Given the description of an element on the screen output the (x, y) to click on. 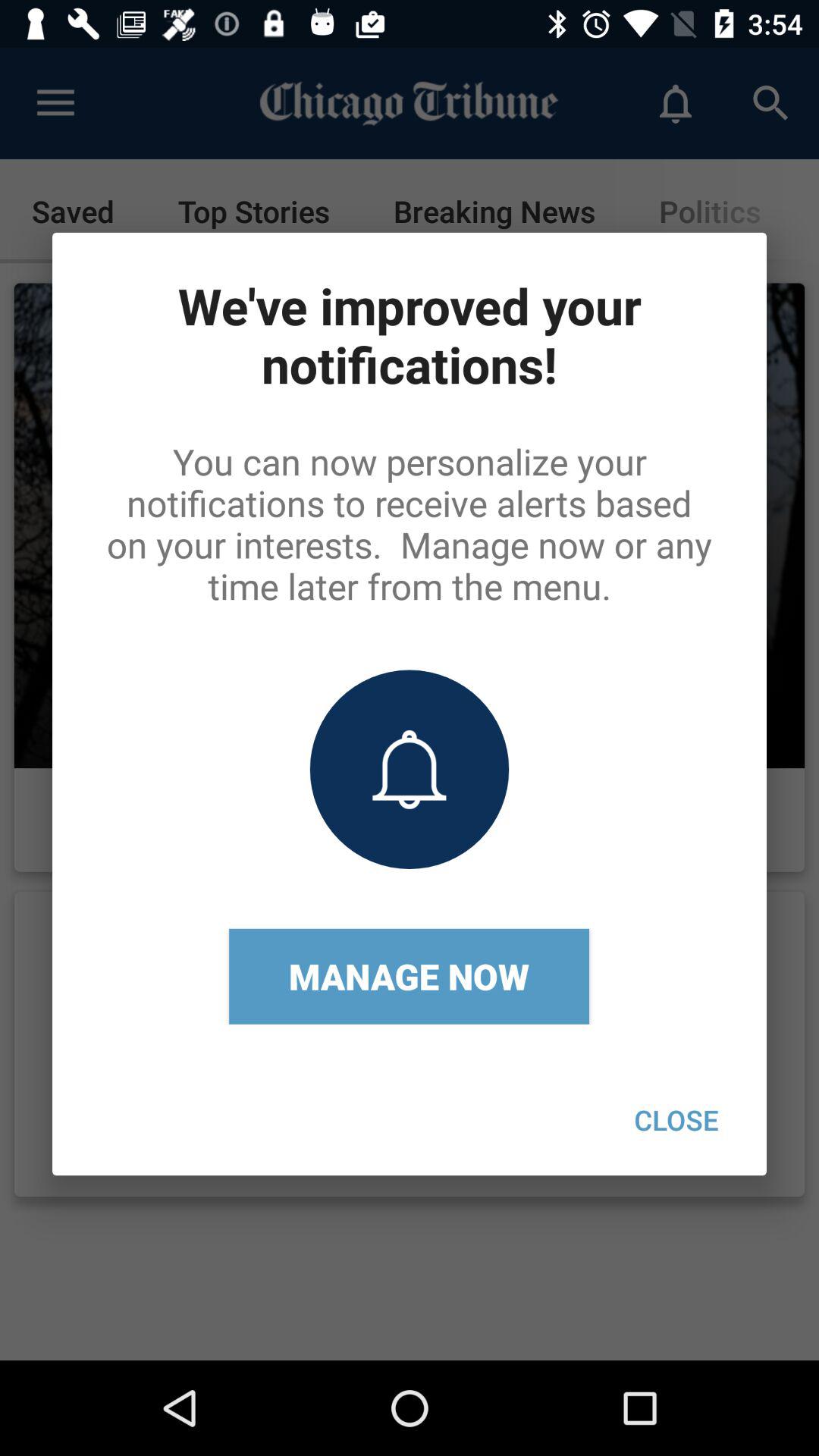
jump to the close item (676, 1119)
